Given the description of an element on the screen output the (x, y) to click on. 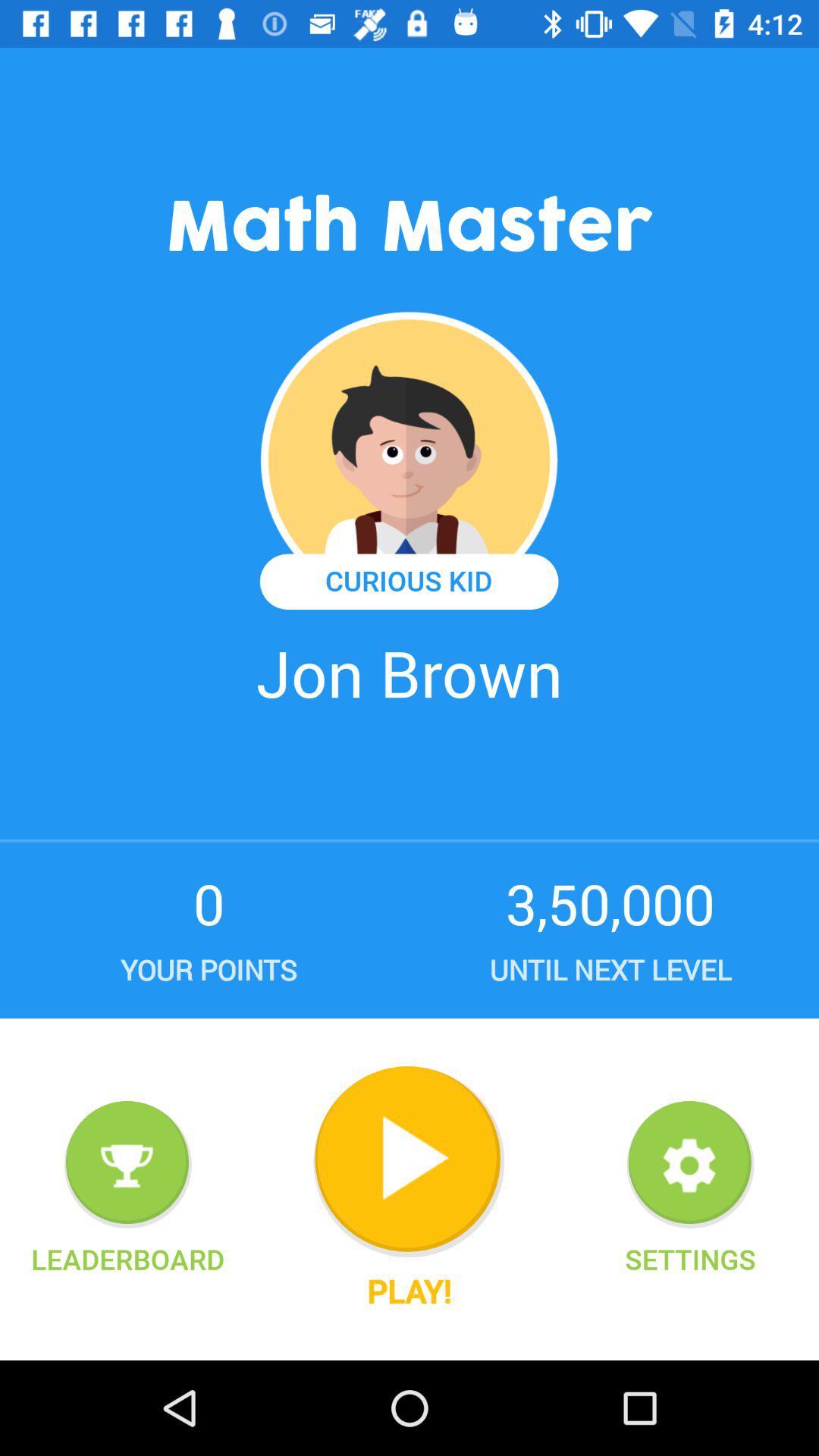
tap item next to the settings icon (408, 1290)
